Given the description of an element on the screen output the (x, y) to click on. 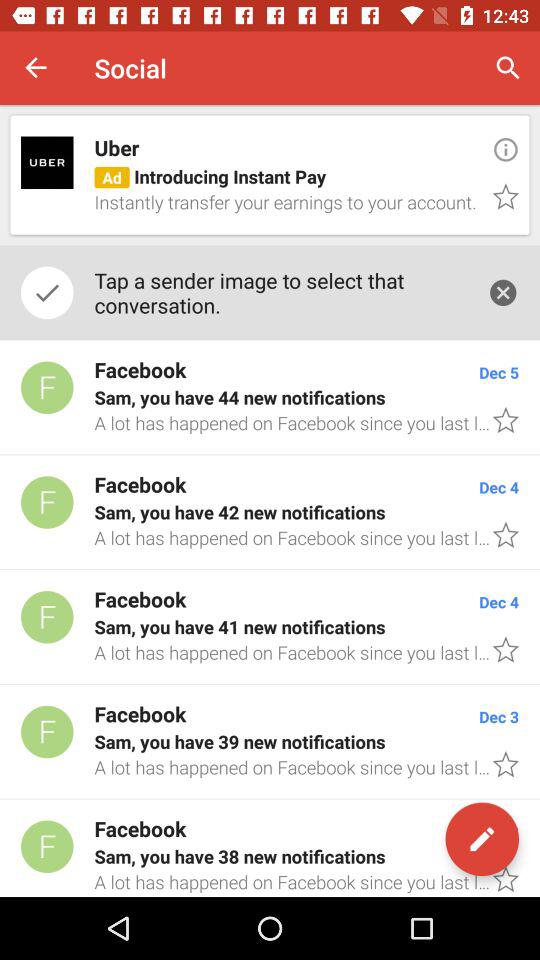
open icon below the tap a sender (270, 397)
